Given the description of an element on the screen output the (x, y) to click on. 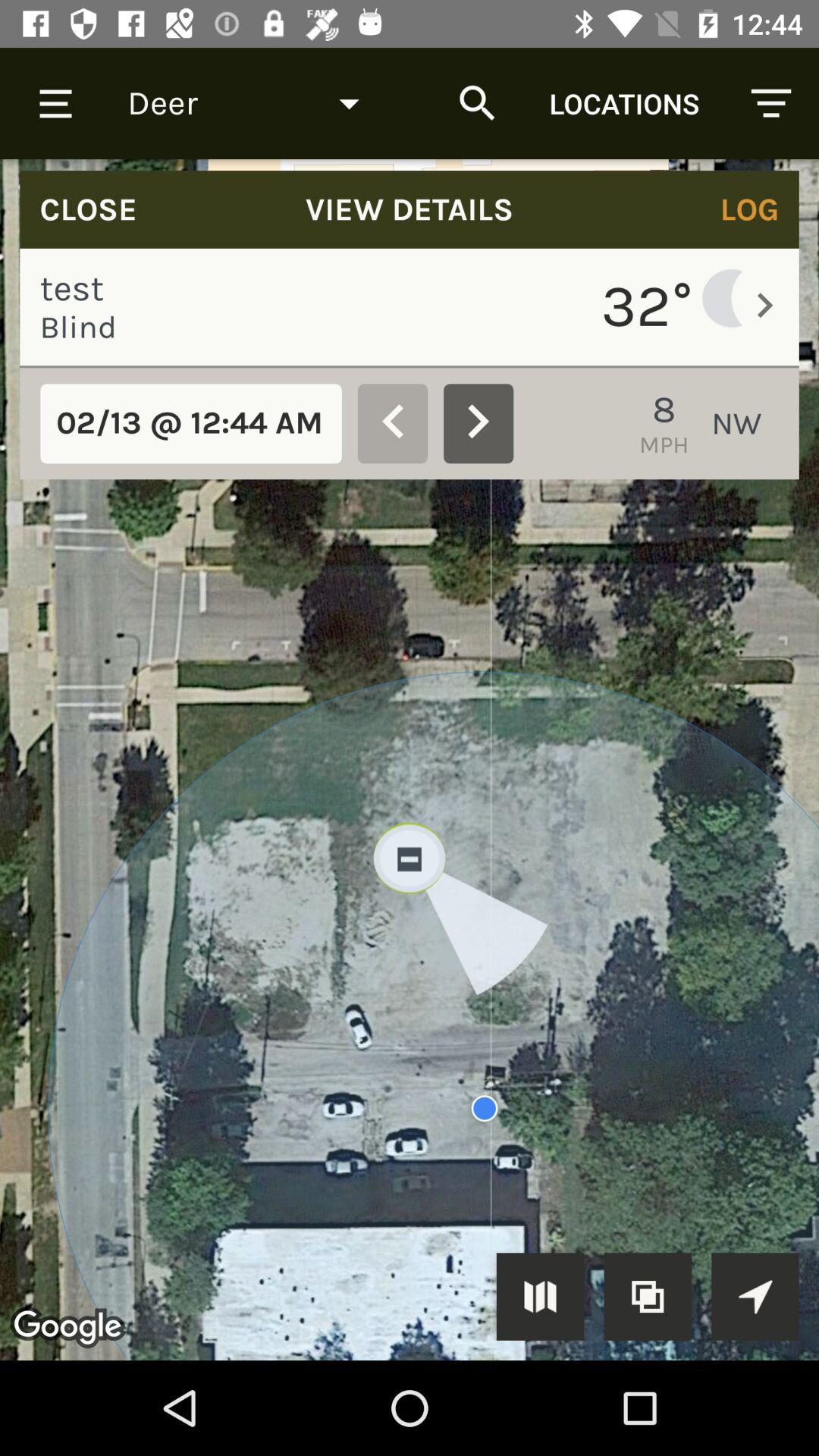
go to symbol (540, 1296)
